Given the description of an element on the screen output the (x, y) to click on. 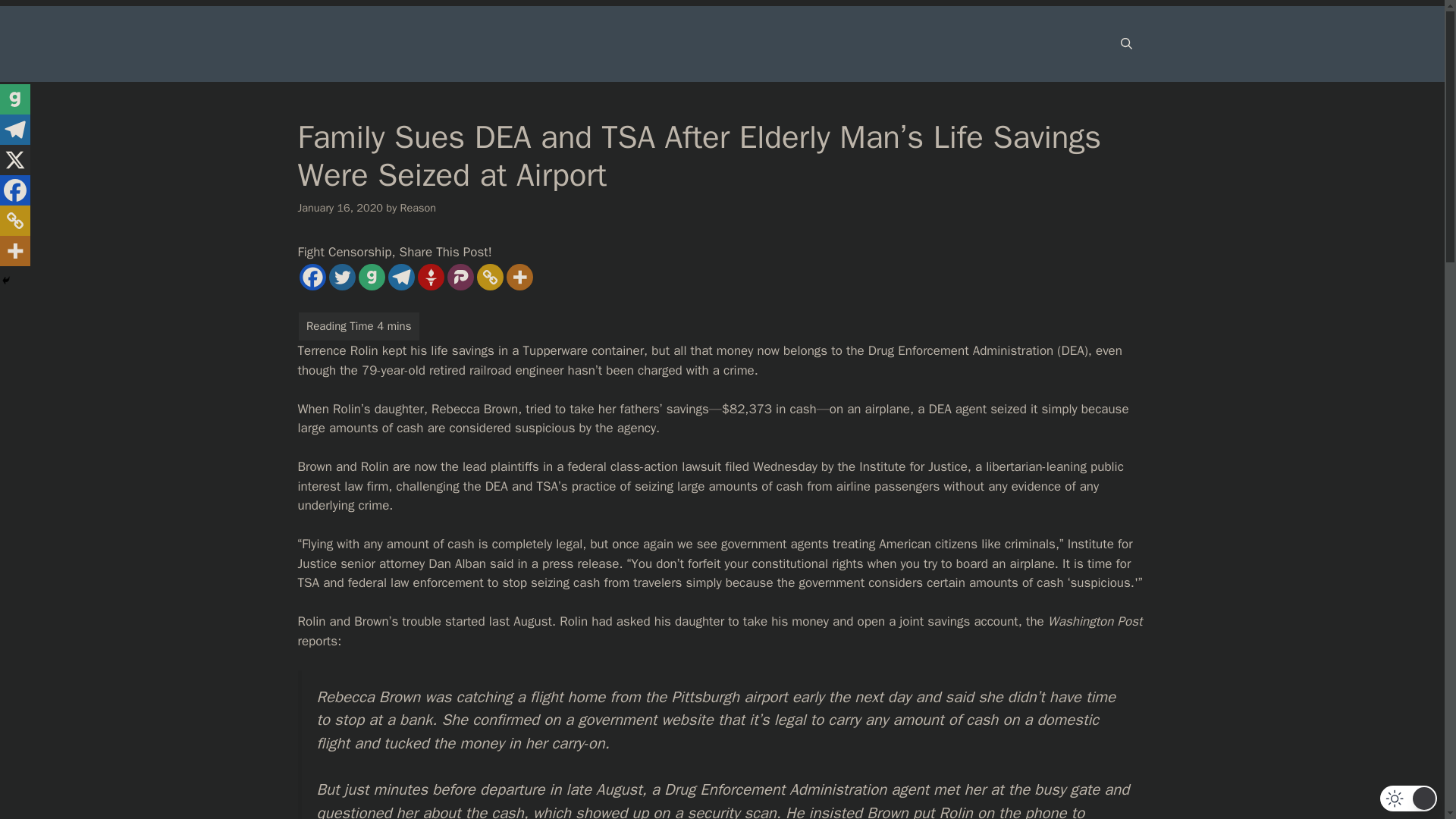
Parler (460, 276)
Gab (371, 276)
Reason (418, 207)
Telegram (401, 276)
More (519, 276)
Gettr (430, 276)
reports (317, 641)
Copy Link (489, 276)
View all posts by Reason (418, 207)
Twitter (342, 276)
Facebook (311, 276)
lawsuit (700, 466)
